Given the description of an element on the screen output the (x, y) to click on. 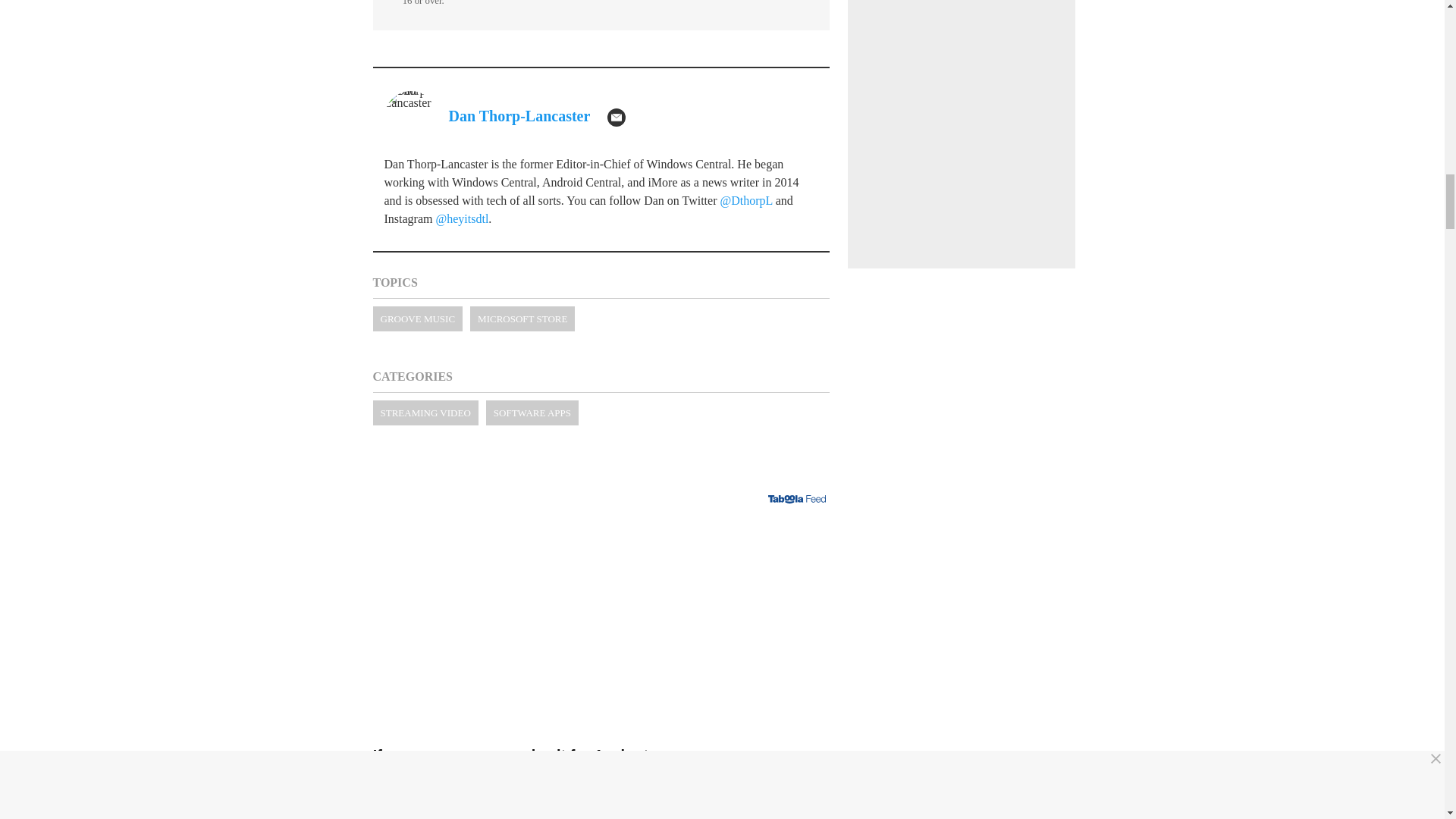
If you own a mouse, play it for 1 minute. (600, 774)
